Given the description of an element on the screen output the (x, y) to click on. 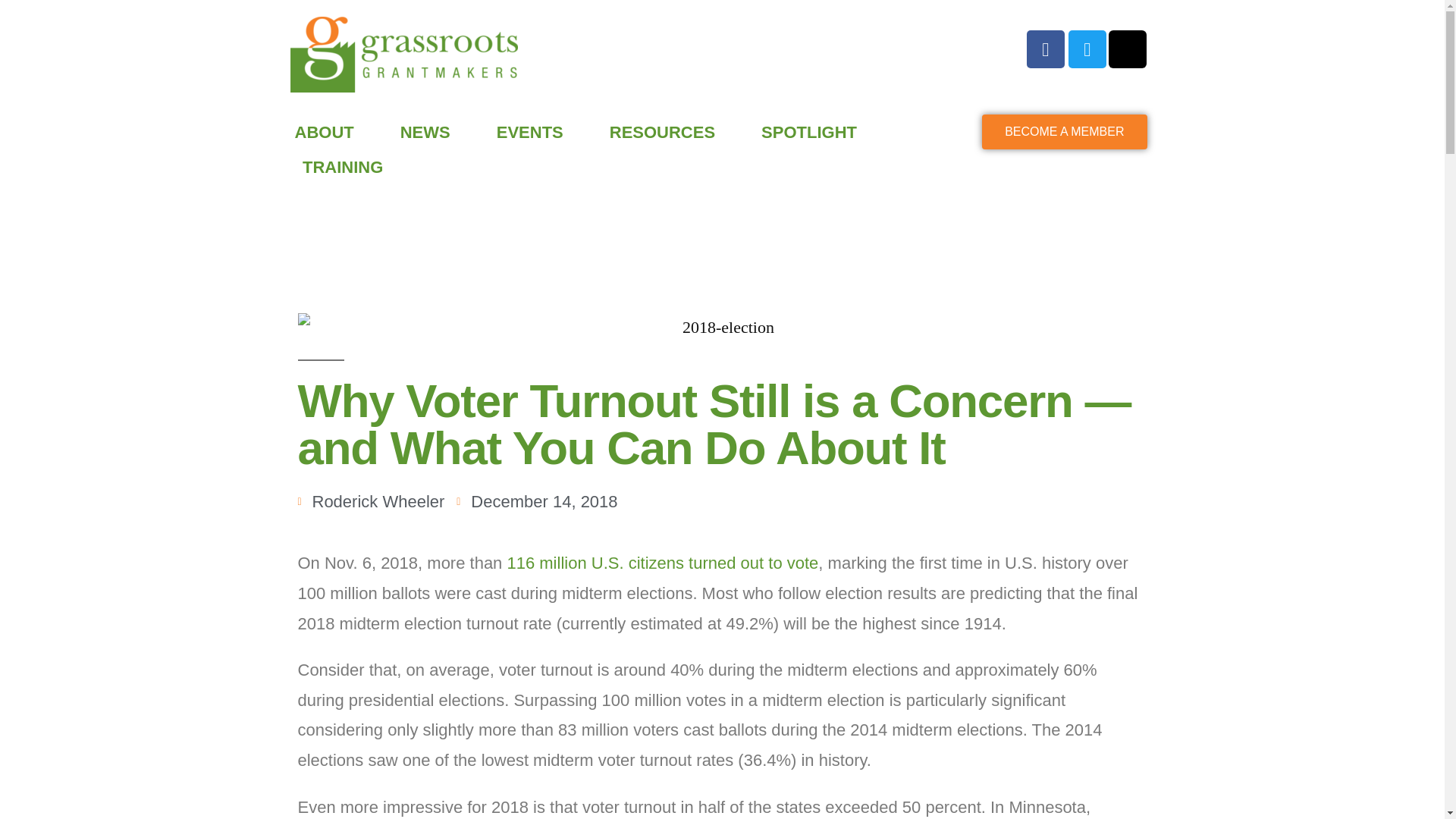
2018-election (722, 327)
RESOURCES (662, 132)
ABOUT (323, 132)
TRAINING (341, 167)
NEWS (425, 132)
EVENTS (529, 132)
SPOTLIGHT (808, 132)
